Given the description of an element on the screen output the (x, y) to click on. 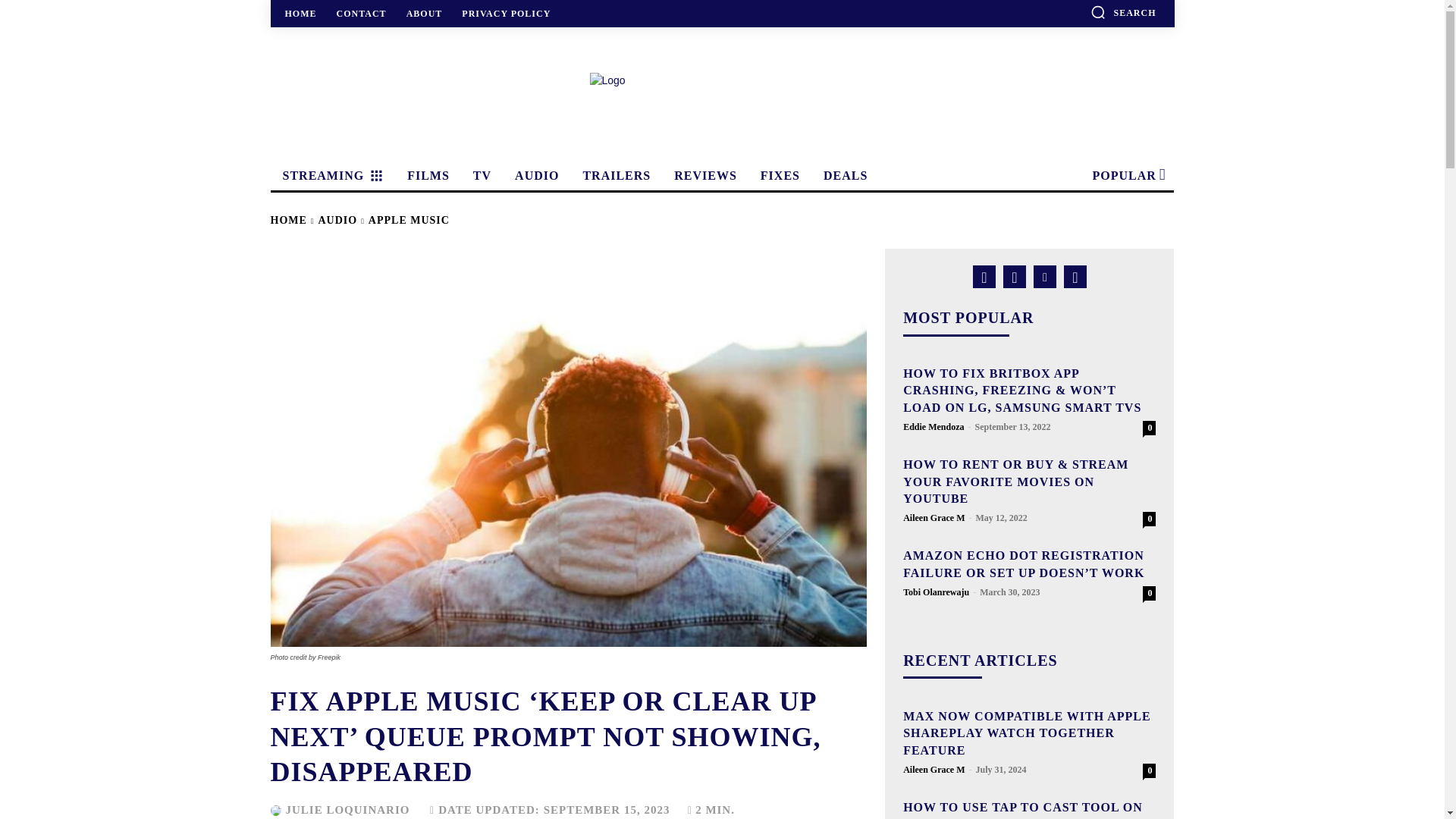
SEARCH (1123, 11)
HOME (301, 13)
STREAMING (330, 175)
CONTACT (361, 13)
PRIVACY POLICY (505, 13)
ABOUT (423, 13)
POPULAR (1126, 175)
